Given the description of an element on the screen output the (x, y) to click on. 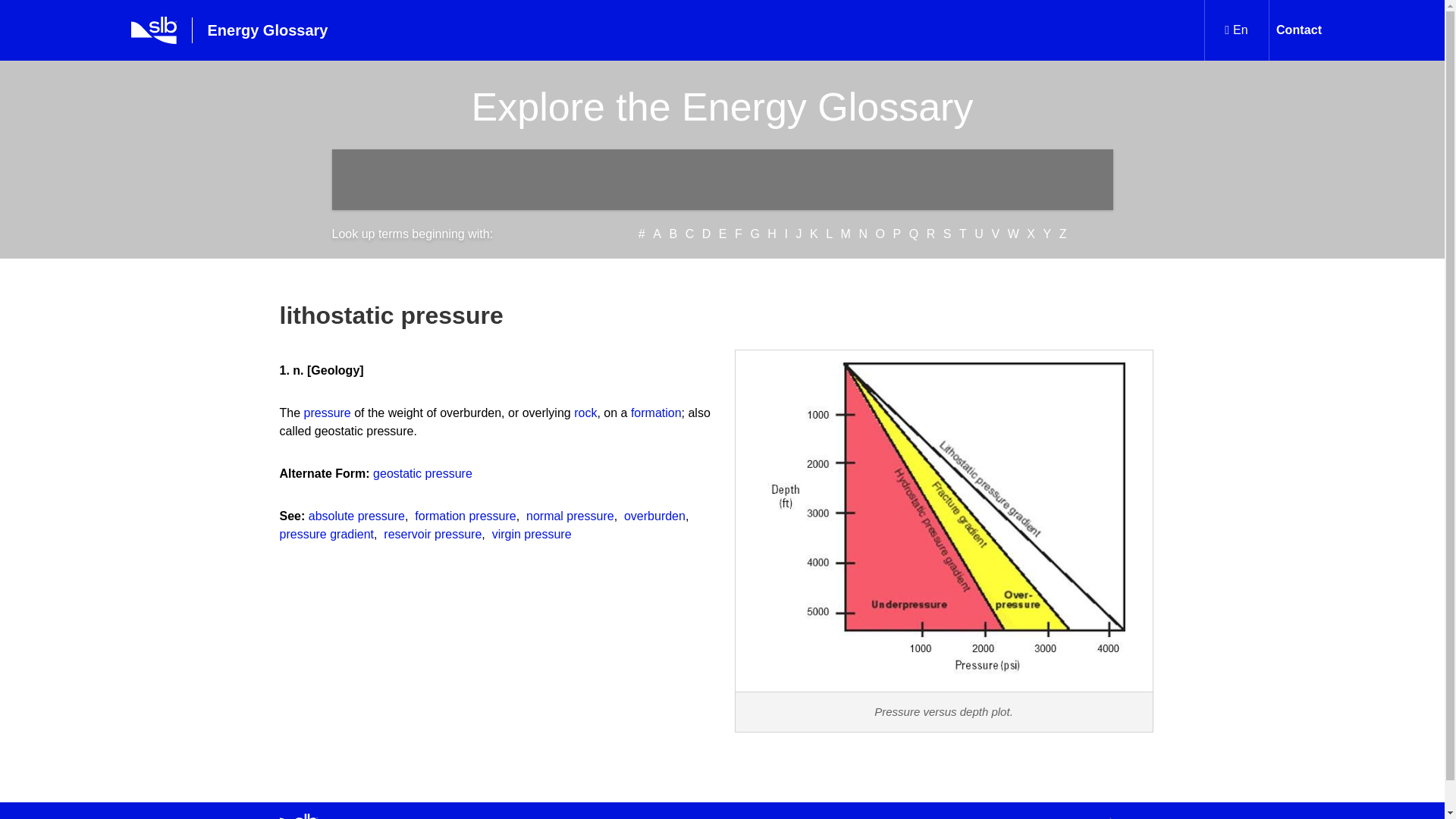
En (1236, 30)
Contact (1297, 30)
Energy Glossary (251, 30)
pressure (327, 412)
formation (655, 412)
rock (584, 412)
geostatic pressure (421, 472)
W (1013, 233)
